Given the description of an element on the screen output the (x, y) to click on. 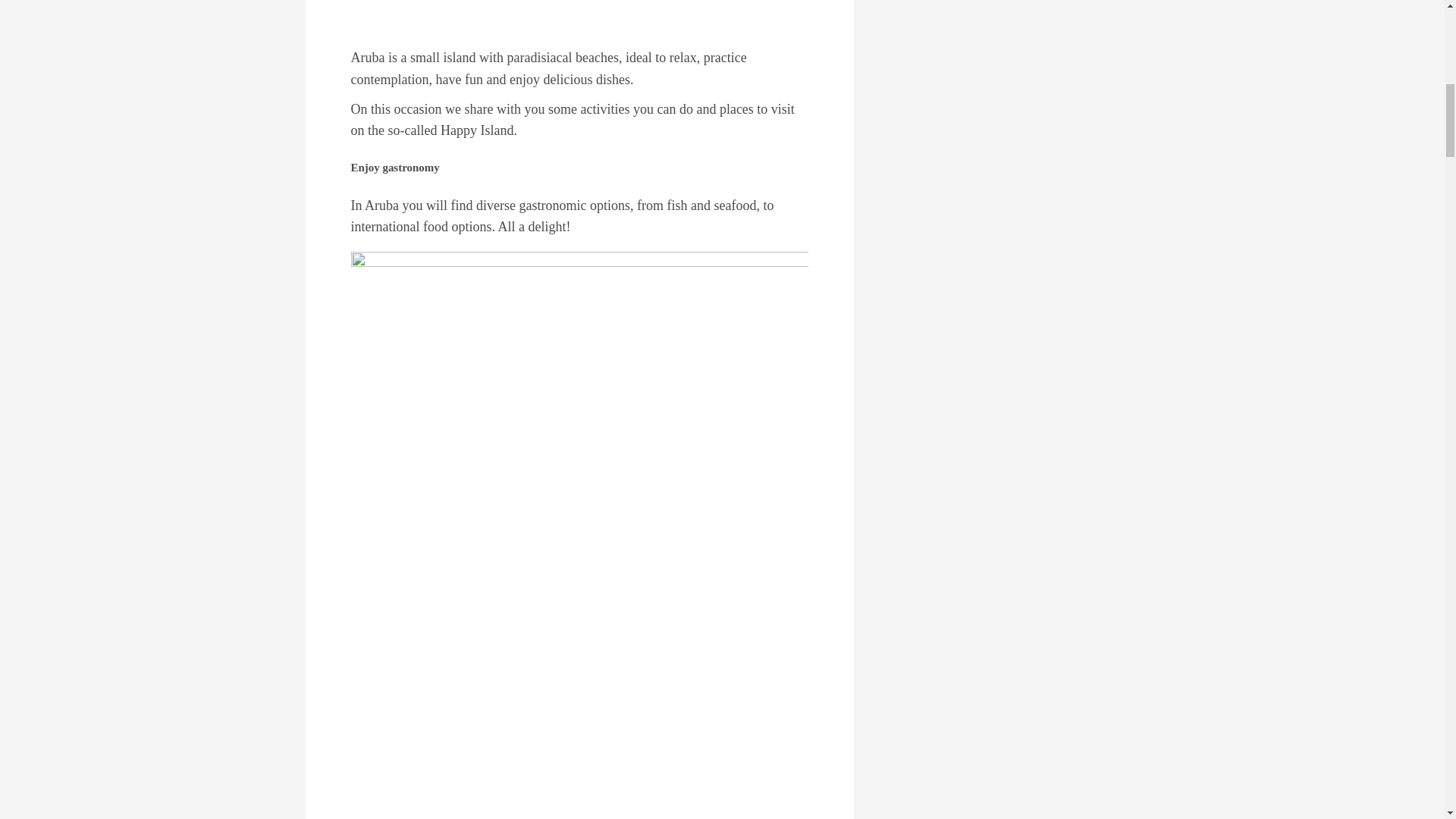
Advertisement (578, 6)
